Given the description of an element on the screen output the (x, y) to click on. 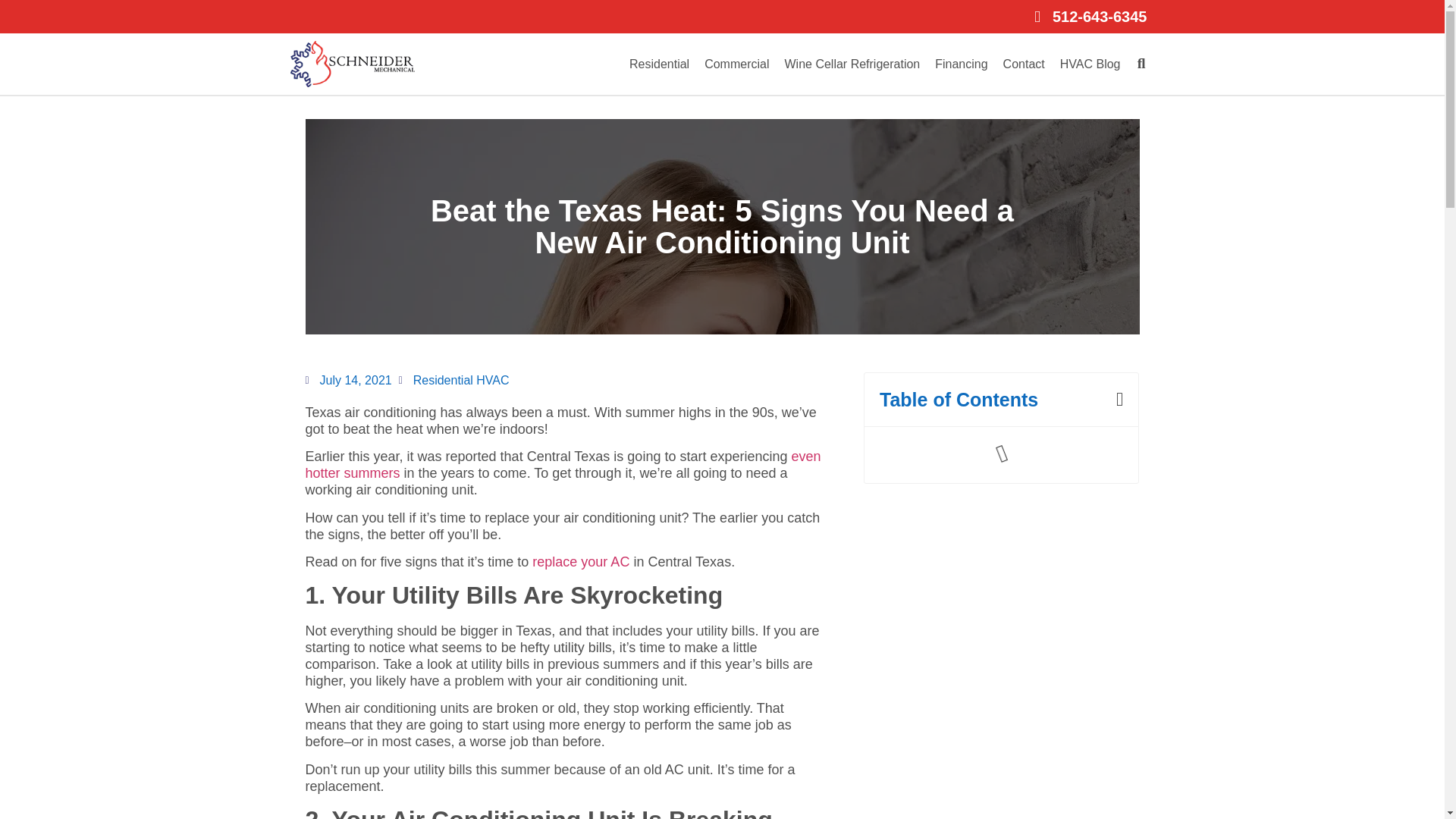
Contact (1023, 63)
July 14, 2021 (347, 380)
Financing (960, 63)
HVAC Blog (1090, 63)
512-643-6345 (722, 16)
Wine Cellar Refrigeration (851, 63)
Residential (659, 63)
even hotter summers (562, 464)
Residential HVAC (461, 379)
Commercial (736, 63)
replace your AC (580, 561)
